Given the description of an element on the screen output the (x, y) to click on. 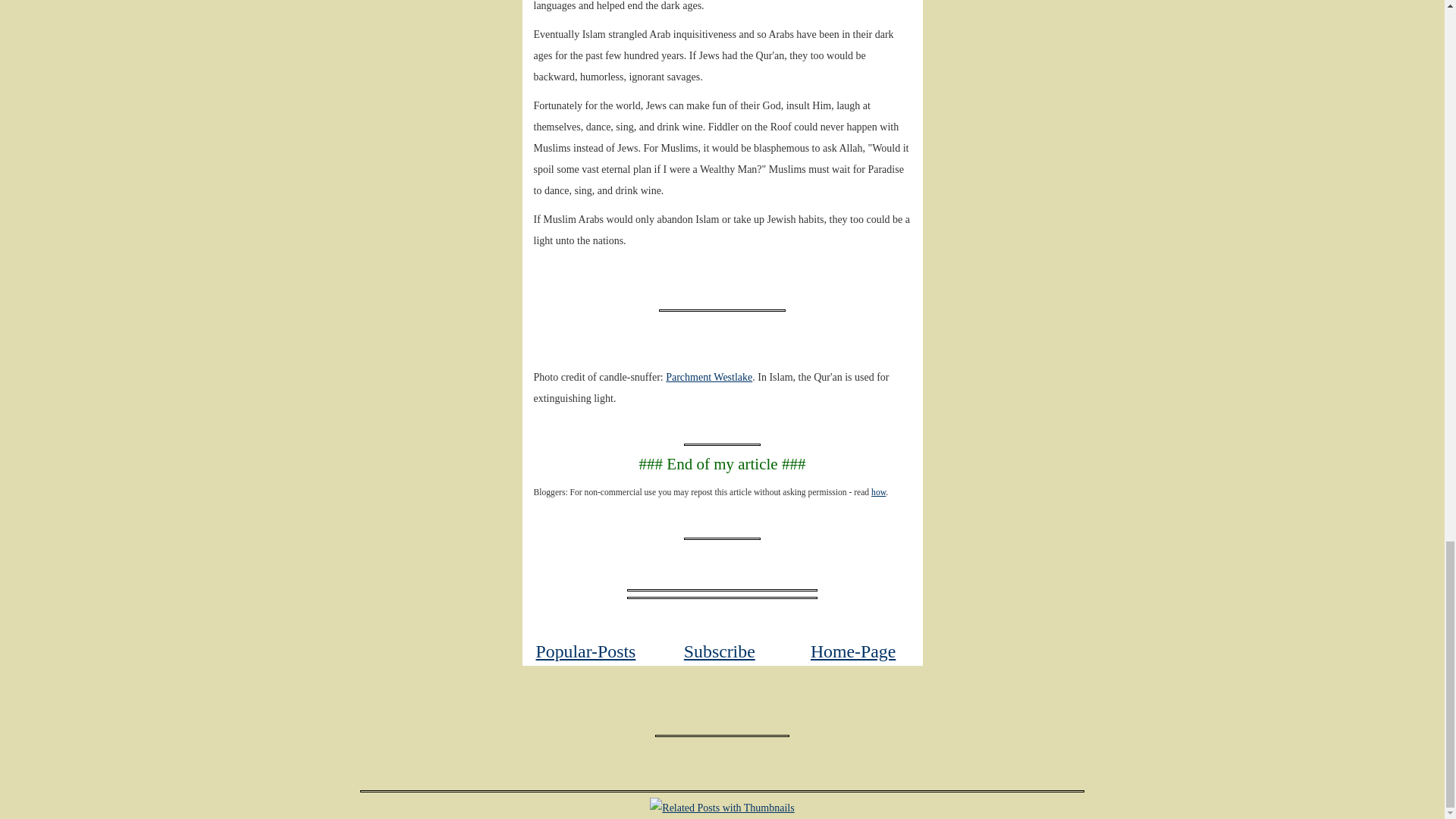
how (877, 492)
Popular-Posts (585, 650)
Parchment Westlake (708, 377)
Subscribe (719, 650)
Home-Page (852, 650)
